Given the description of an element on the screen output the (x, y) to click on. 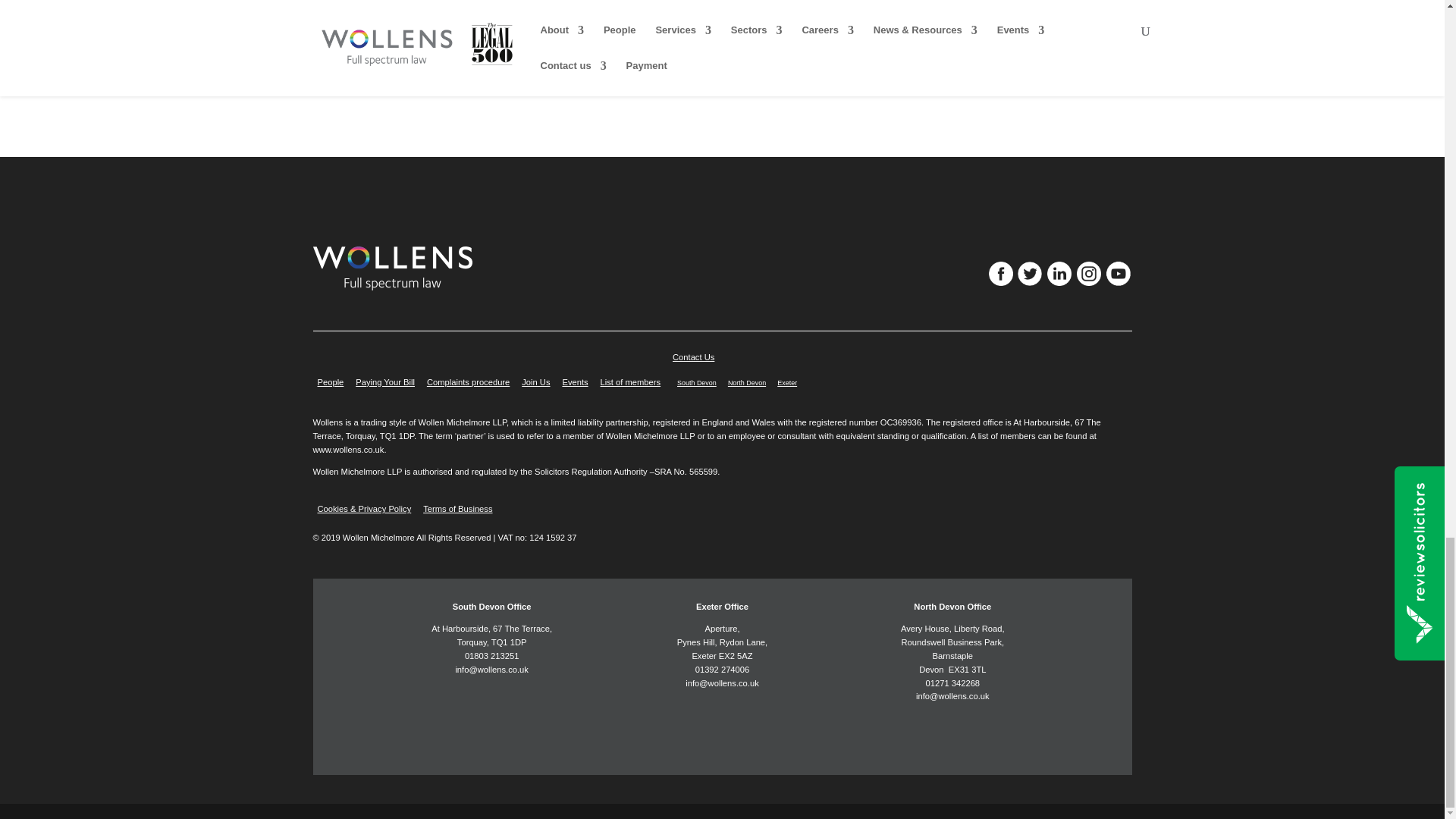
Send (721, 77)
